Given the description of an element on the screen output the (x, y) to click on. 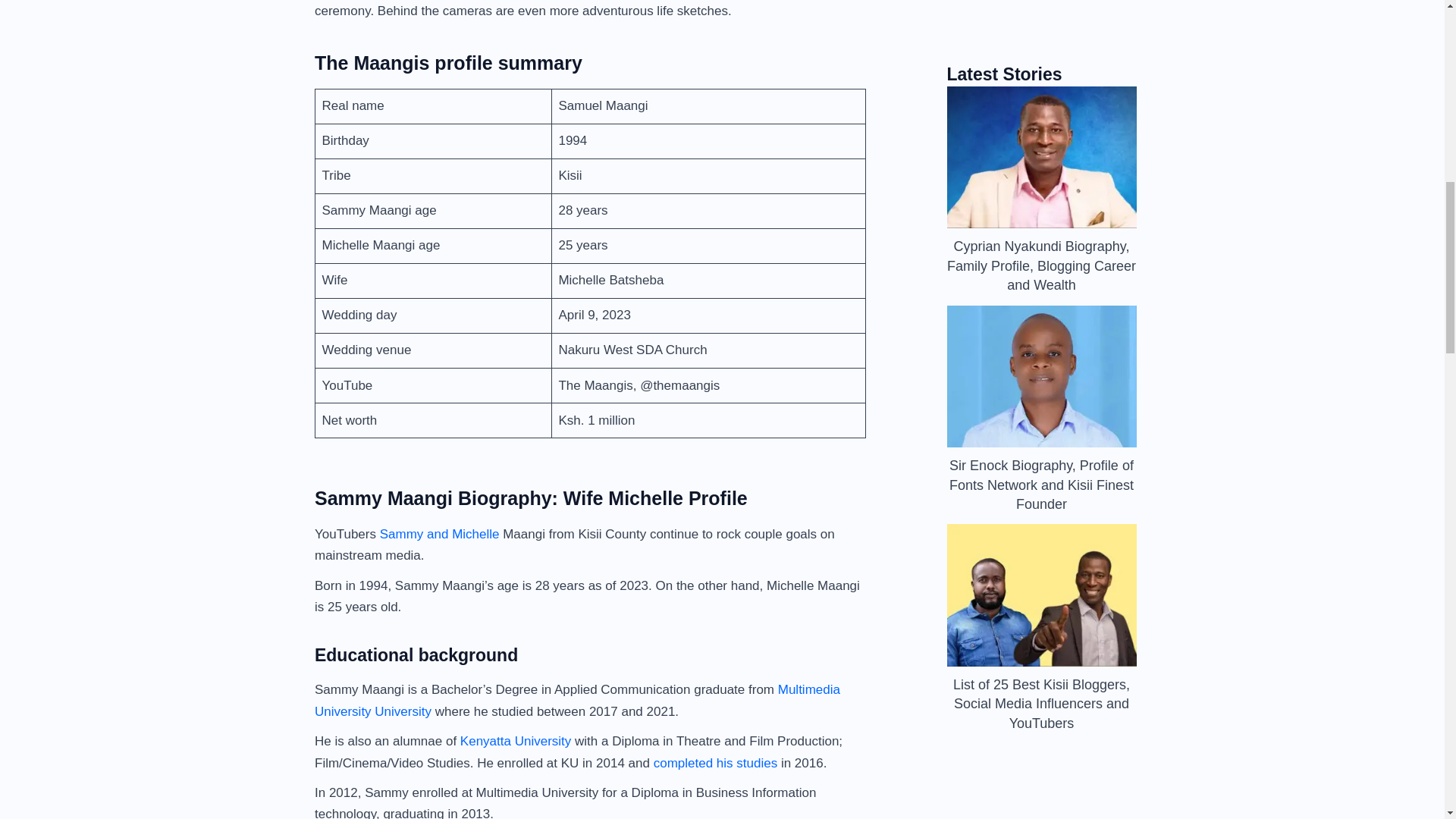
Biography (992, 104)
Multimedia University University (577, 700)
Sammy and Michelle (439, 534)
Kenyatta University (515, 740)
Business (1089, 104)
completed his studies (715, 762)
